Given the description of an element on the screen output the (x, y) to click on. 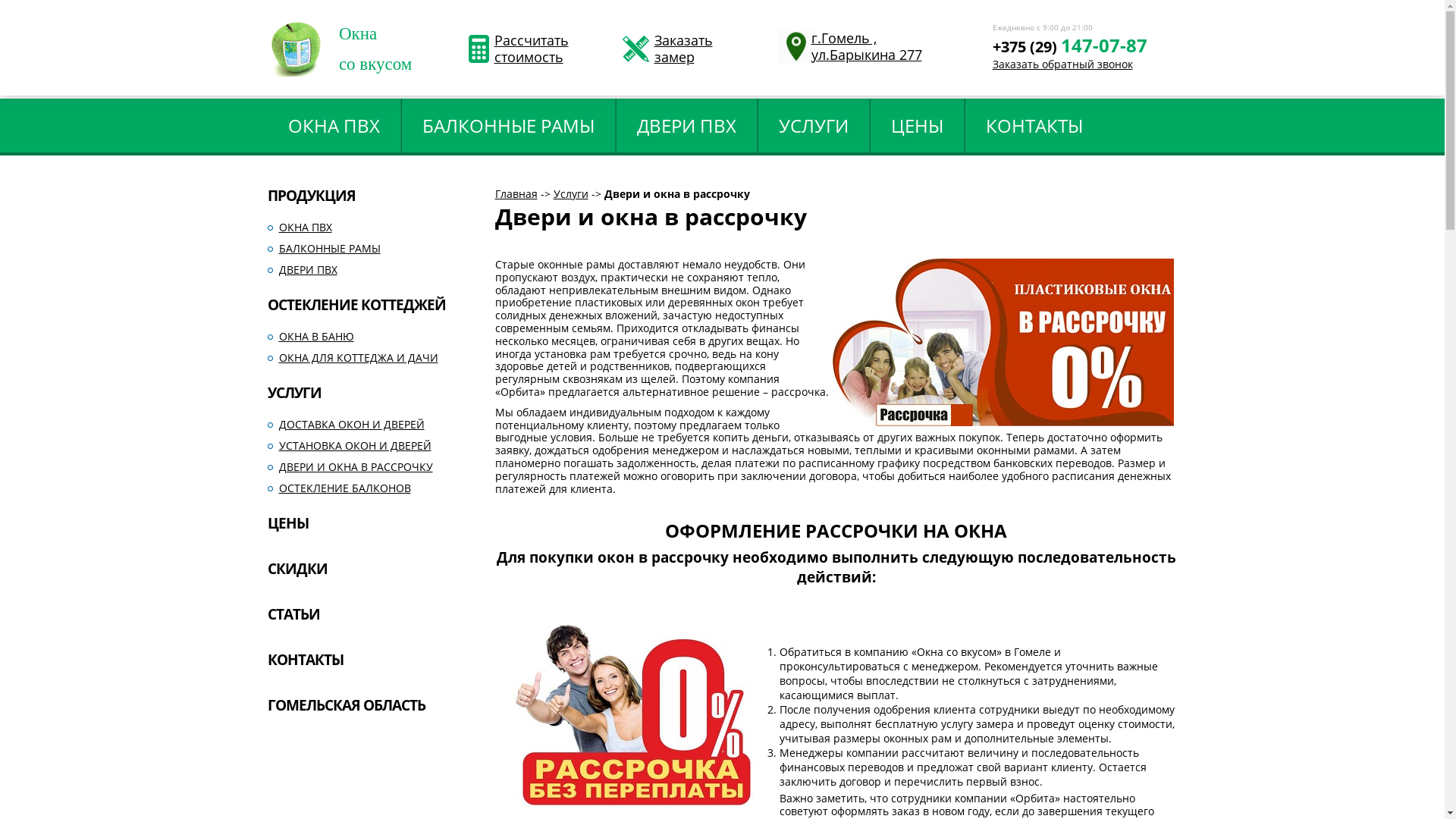
+375 (29) 147-07-87 Element type: text (1068, 59)
